Given the description of an element on the screen output the (x, y) to click on. 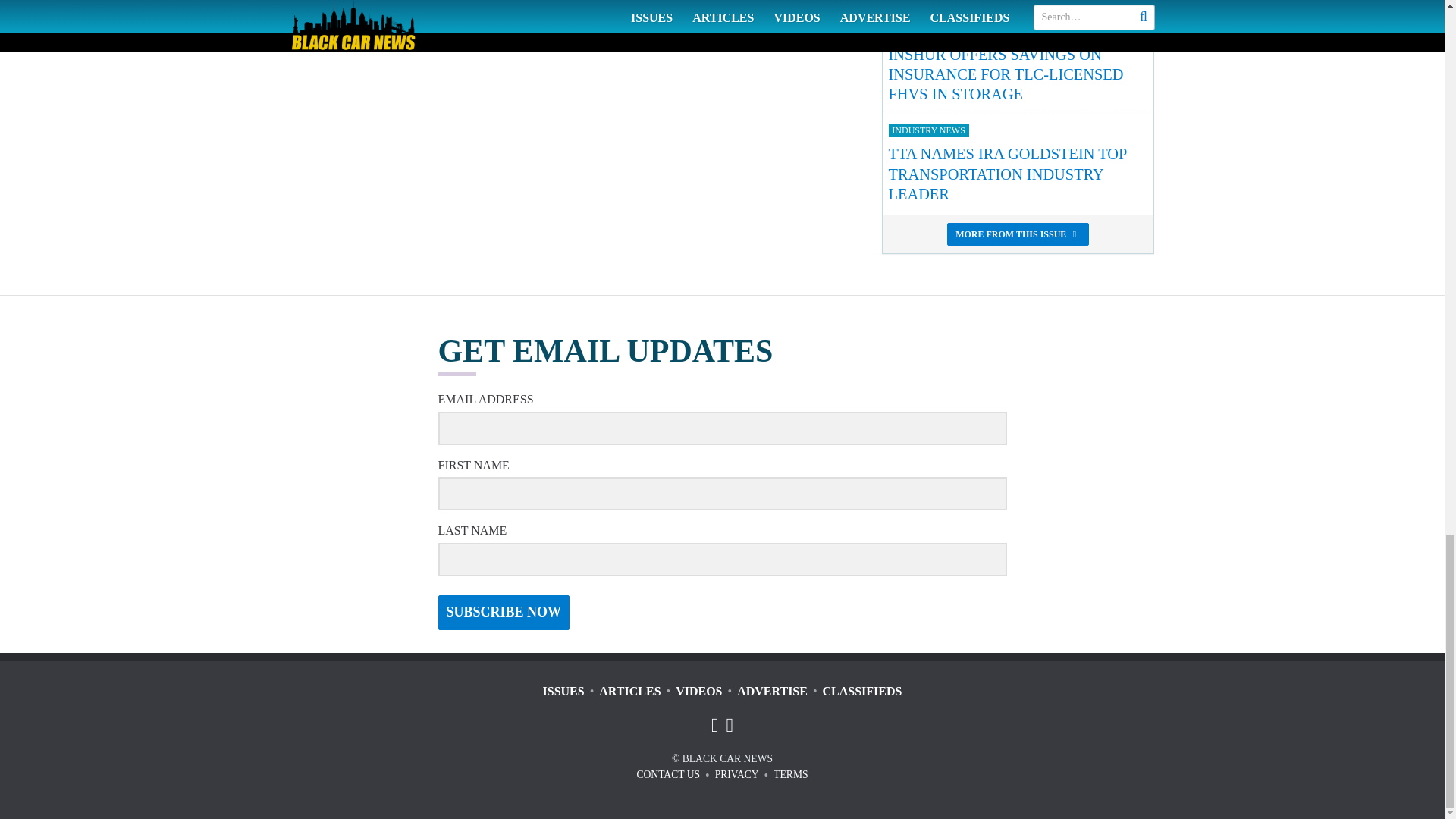
TERMS (790, 774)
VIDEOS (698, 690)
ARTICLES (629, 690)
ADVERTISE (772, 690)
PRIVACY (736, 774)
ISSUES (564, 690)
CLASSIFIEDS (862, 690)
MORE FROM THIS ISSUE (1018, 233)
